Given the description of an element on the screen output the (x, y) to click on. 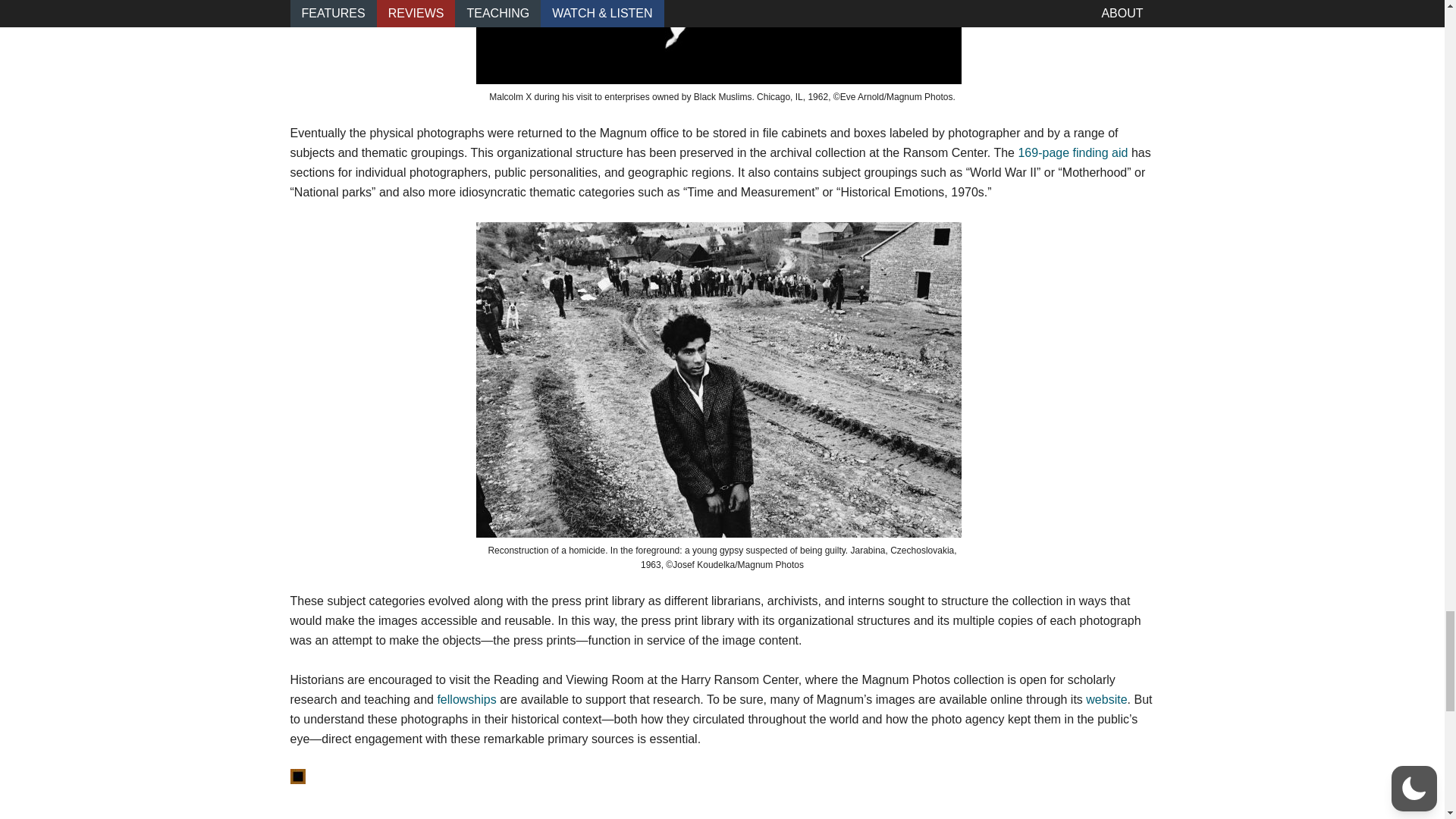
website (1106, 698)
169-page finding aid (1071, 151)
fellowships (466, 698)
